Given the description of an element on the screen output the (x, y) to click on. 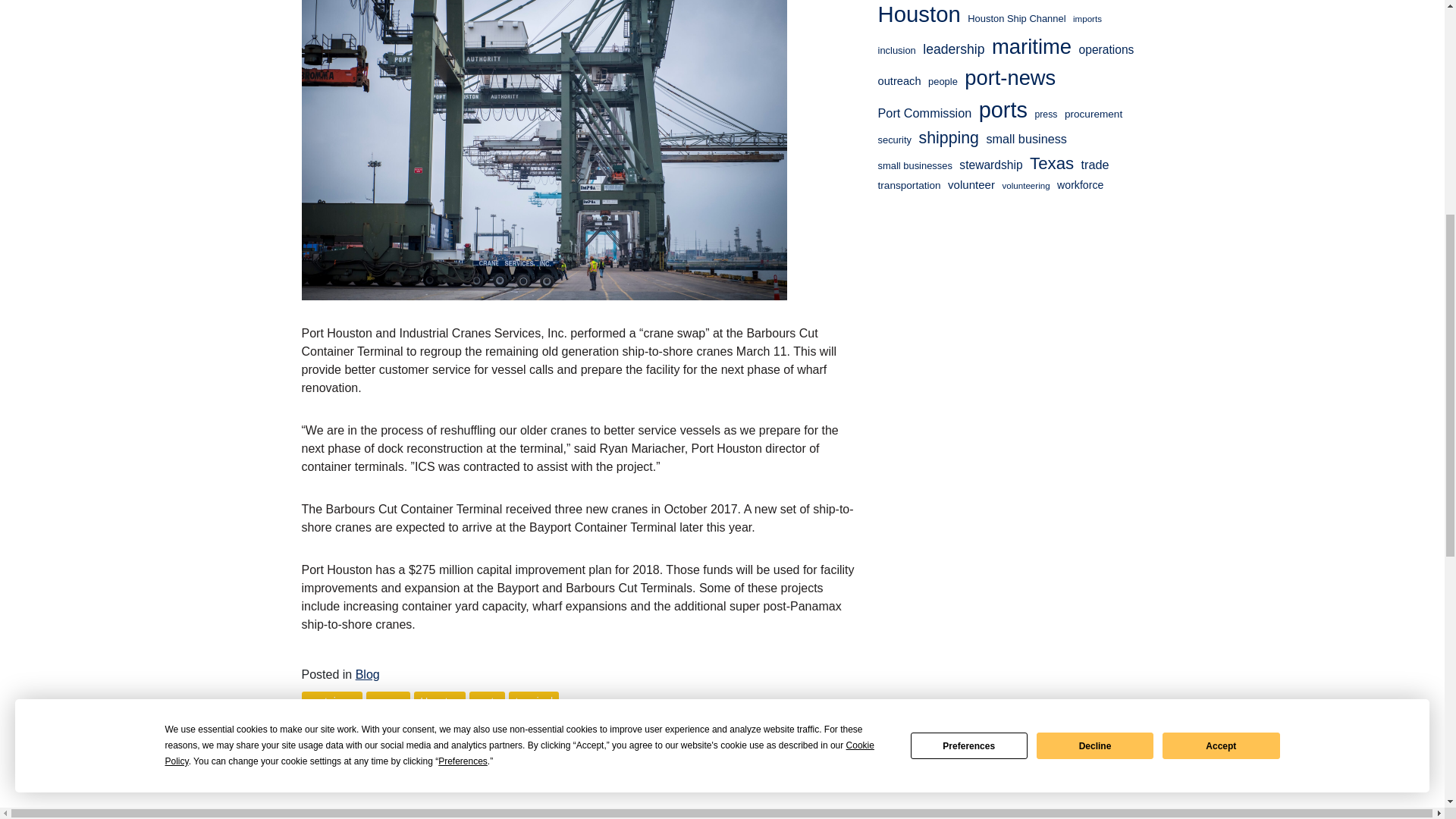
Preferences (969, 266)
Decline (1094, 266)
Accept (1220, 266)
Romanian Delegation Visits Port Houston (804, 759)
Port Houston Meets with Taipei Economic and Cultural Office (381, 759)
